Given the description of an element on the screen output the (x, y) to click on. 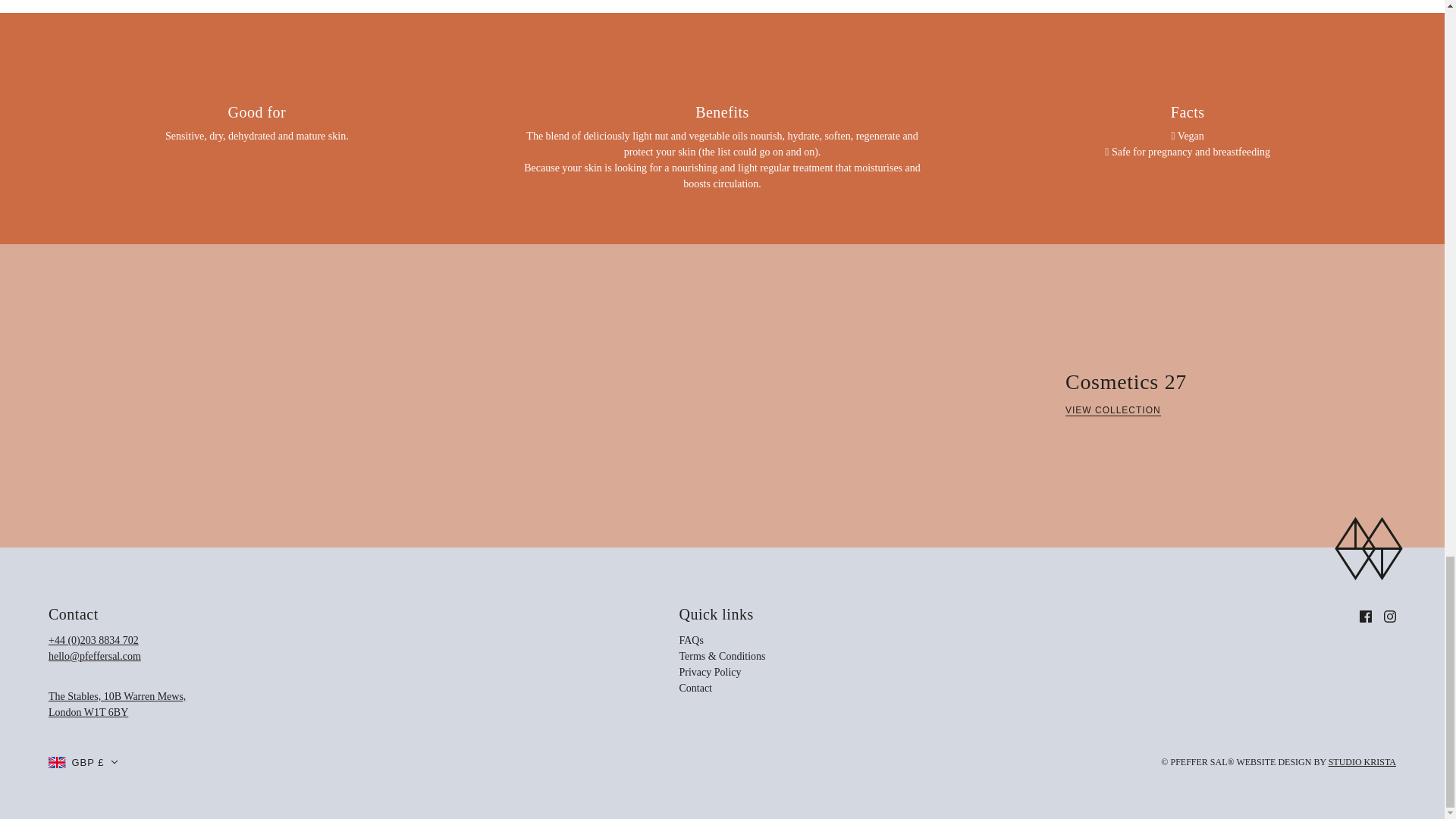
FAQs (117, 704)
Contact (690, 640)
FAQs (694, 687)
Privacy Policy (694, 687)
Privacy Policy (690, 640)
